Given the description of an element on the screen output the (x, y) to click on. 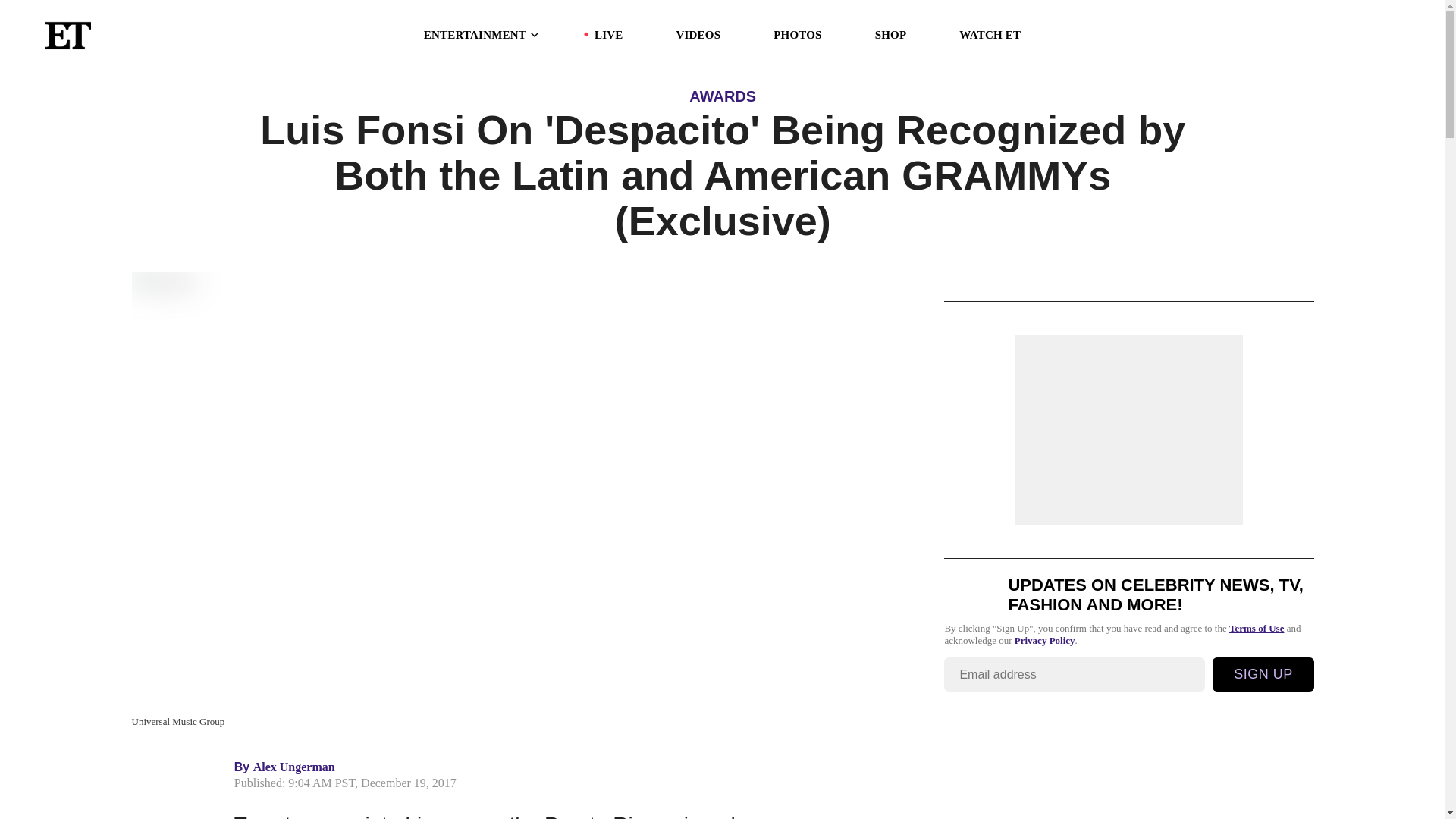
AWARDS (721, 95)
Alex Ungerman (293, 766)
PHOTOS (797, 34)
WATCH ET (989, 34)
LIVE (608, 34)
VIDEOS (697, 34)
ENTERTAINMENT (482, 34)
SHOP (891, 34)
